Given the description of an element on the screen output the (x, y) to click on. 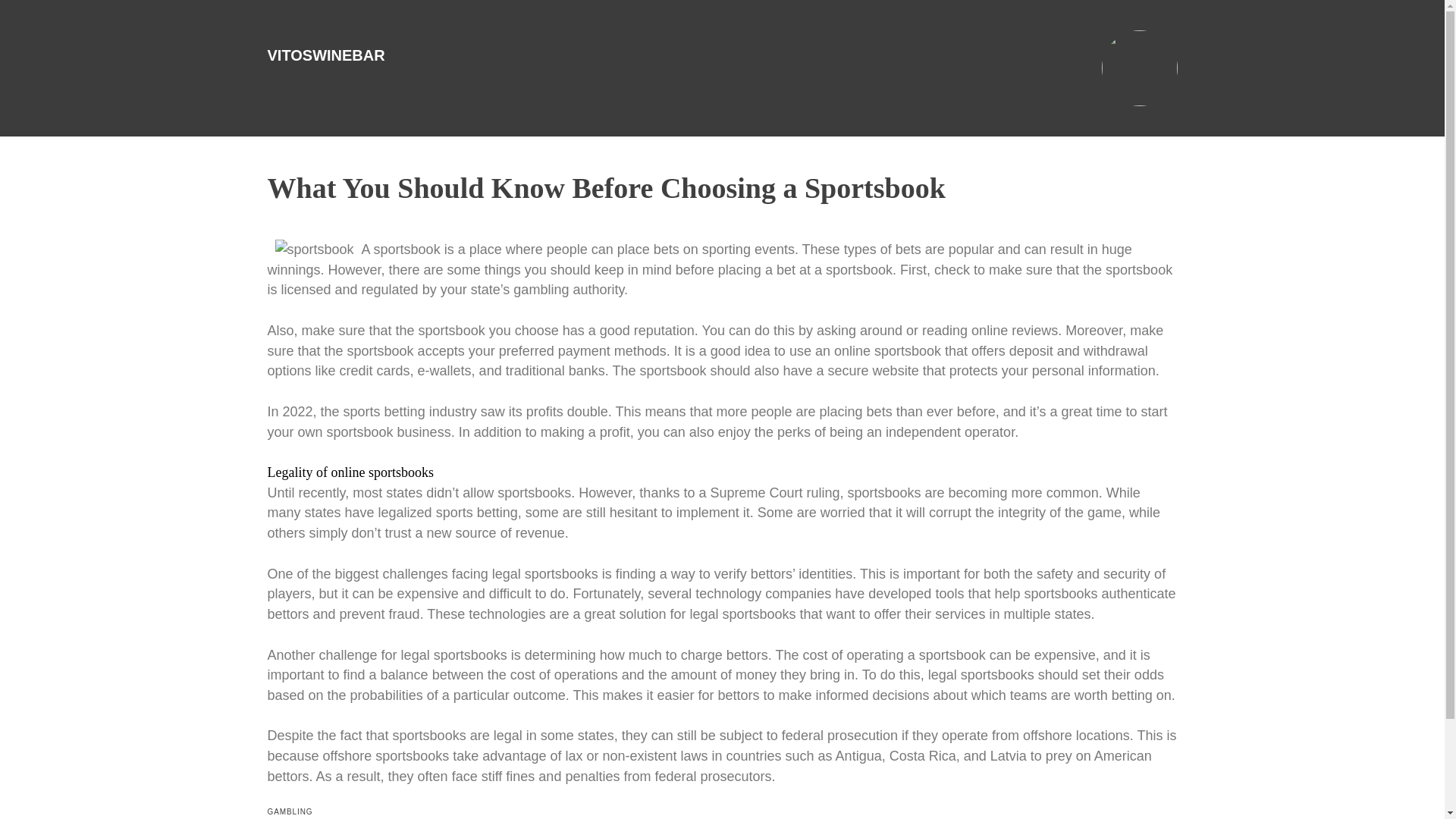
GAMBLING (289, 811)
VITOSWINEBAR (325, 54)
vitoswinebar (325, 54)
